Given the description of an element on the screen output the (x, y) to click on. 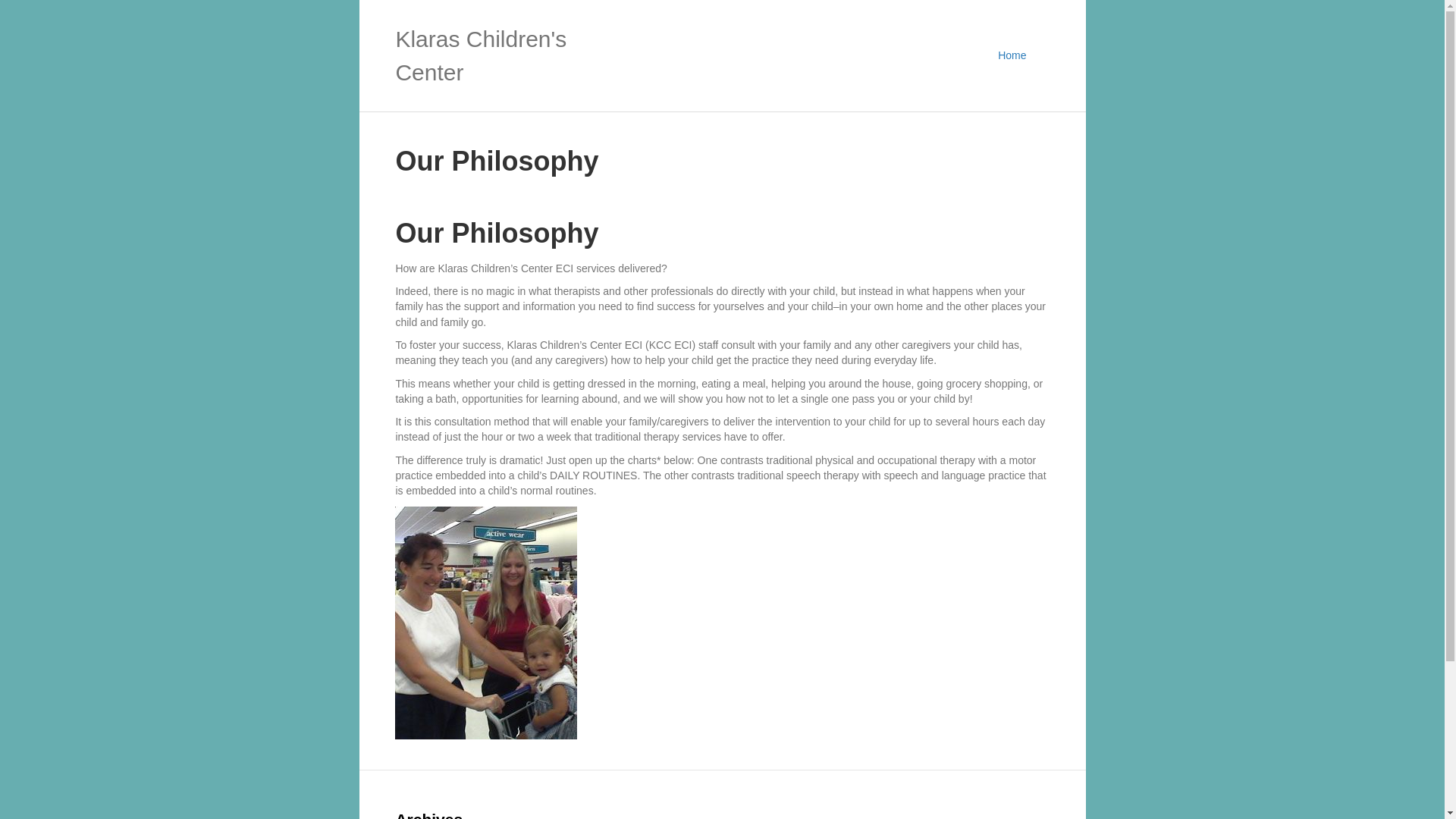
Klaras Children's Center (497, 55)
KlarasPhoto04 (485, 622)
Home (1011, 55)
